Given the description of an element on the screen output the (x, y) to click on. 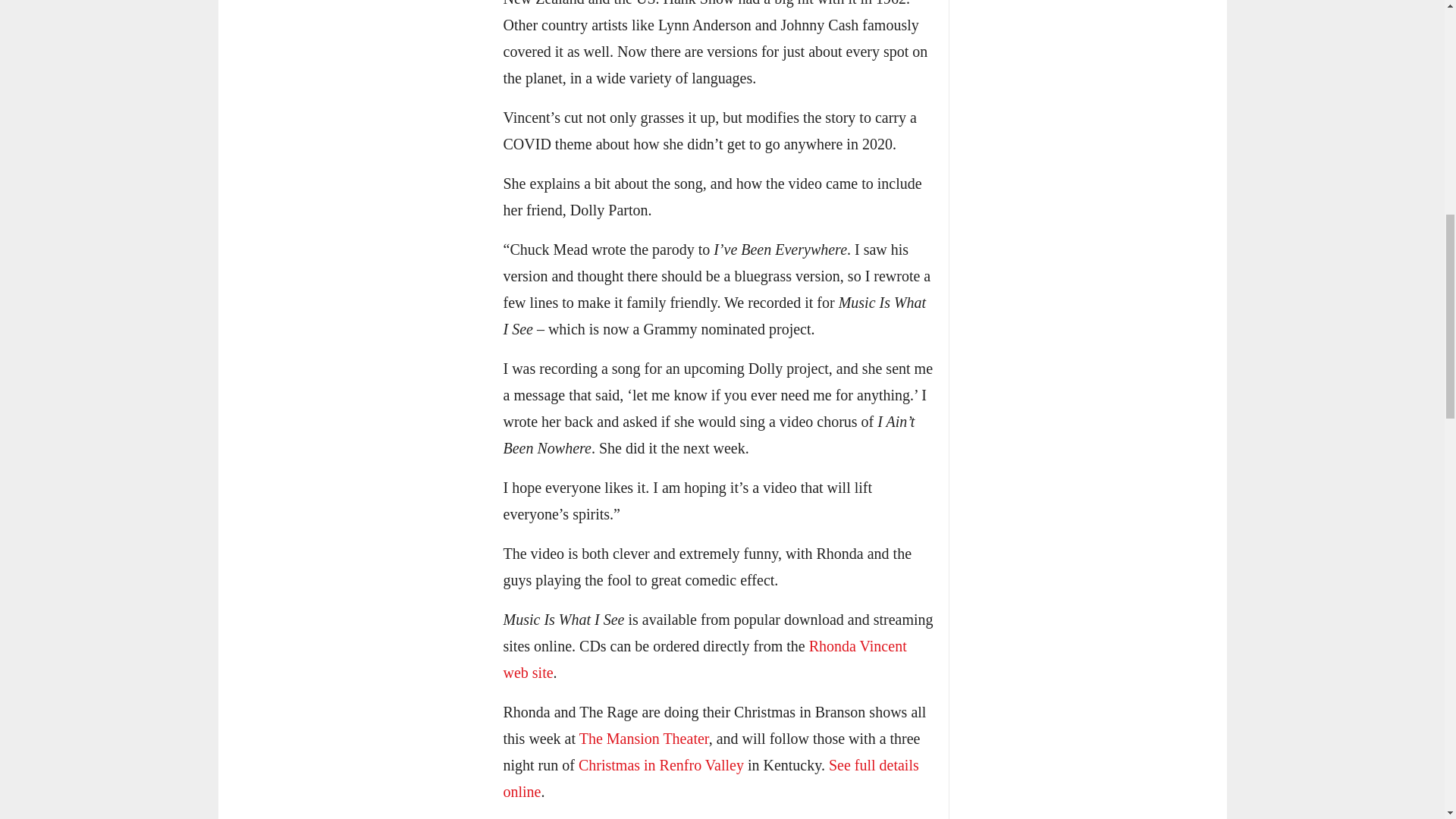
Rhonda Vincent web site (705, 659)
The Mansion Theater (644, 738)
Christmas in Renfro Valley (661, 764)
See full details online (710, 778)
